Given the description of an element on the screen output the (x, y) to click on. 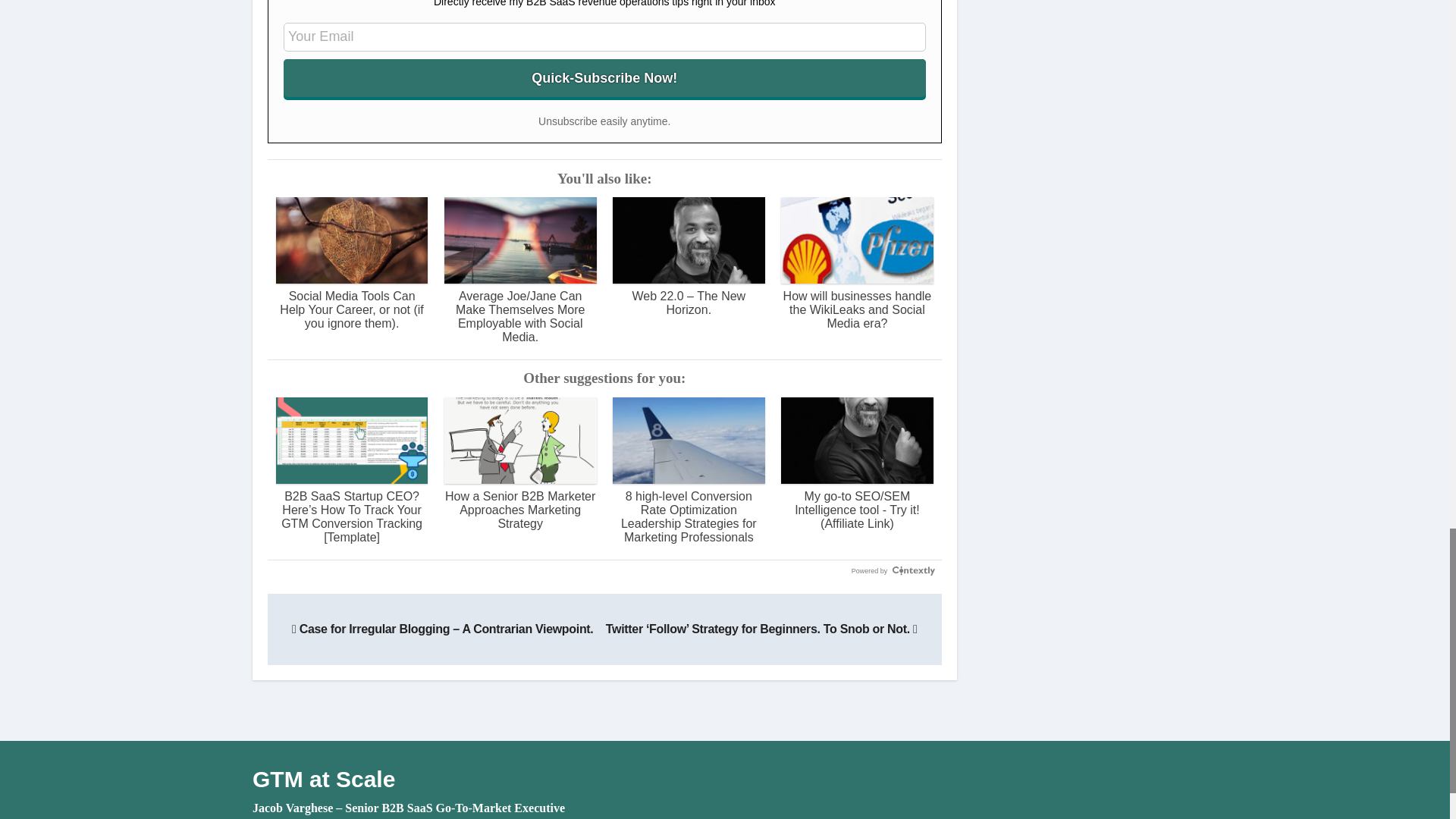
Quick-Subscribe Now! (604, 77)
Powered by (892, 570)
How a Senior B2B Marketer Approaches Marketing Strategy (520, 463)
GTM at Scale (322, 778)
Quick-Subscribe Now! (604, 77)
How a Senior B2B Marketer Approaches Marketing Strategy (520, 463)
